Given the description of an element on the screen output the (x, y) to click on. 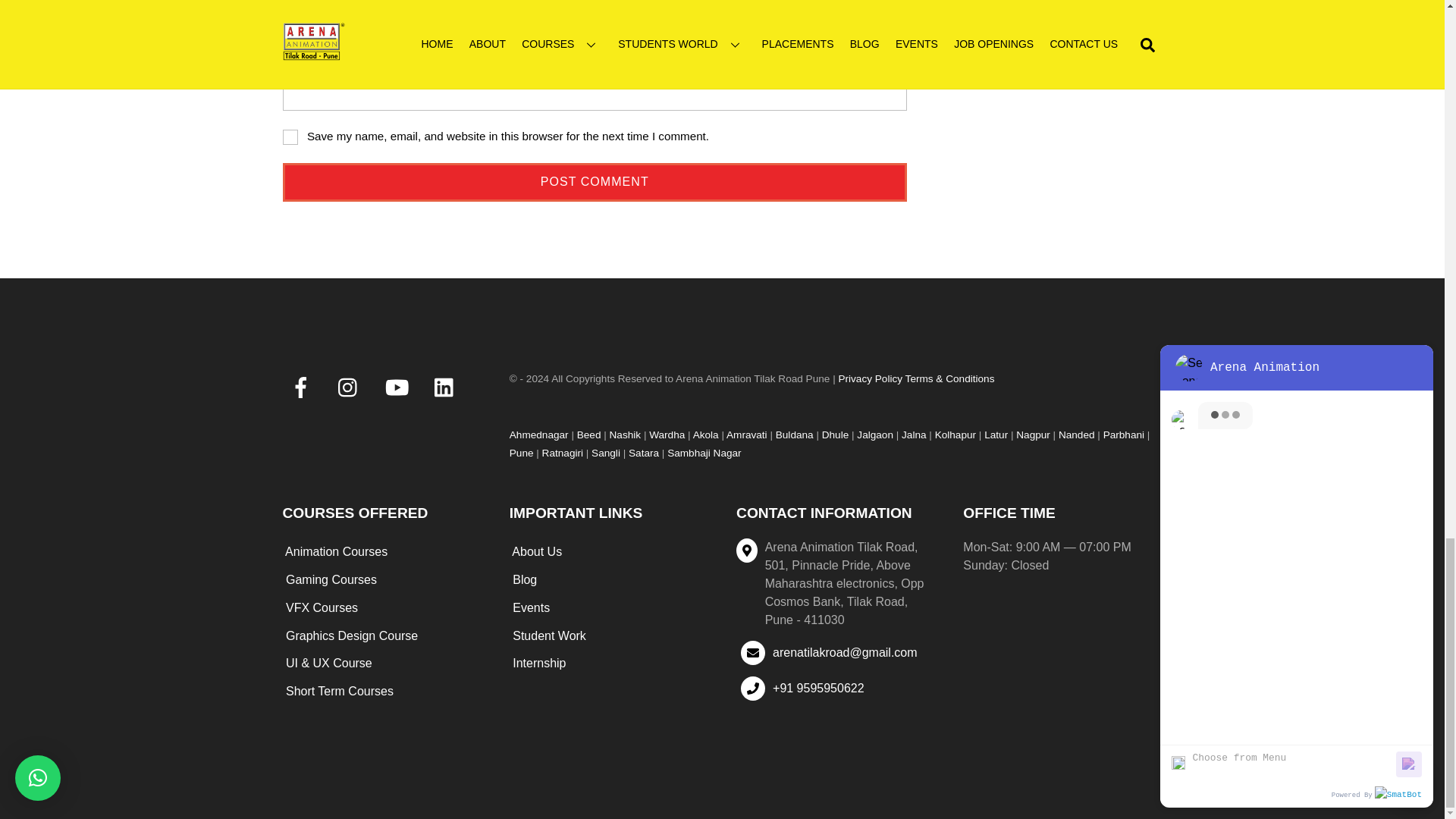
Post Comment (594, 182)
yes (289, 136)
